Given the description of an element on the screen output the (x, y) to click on. 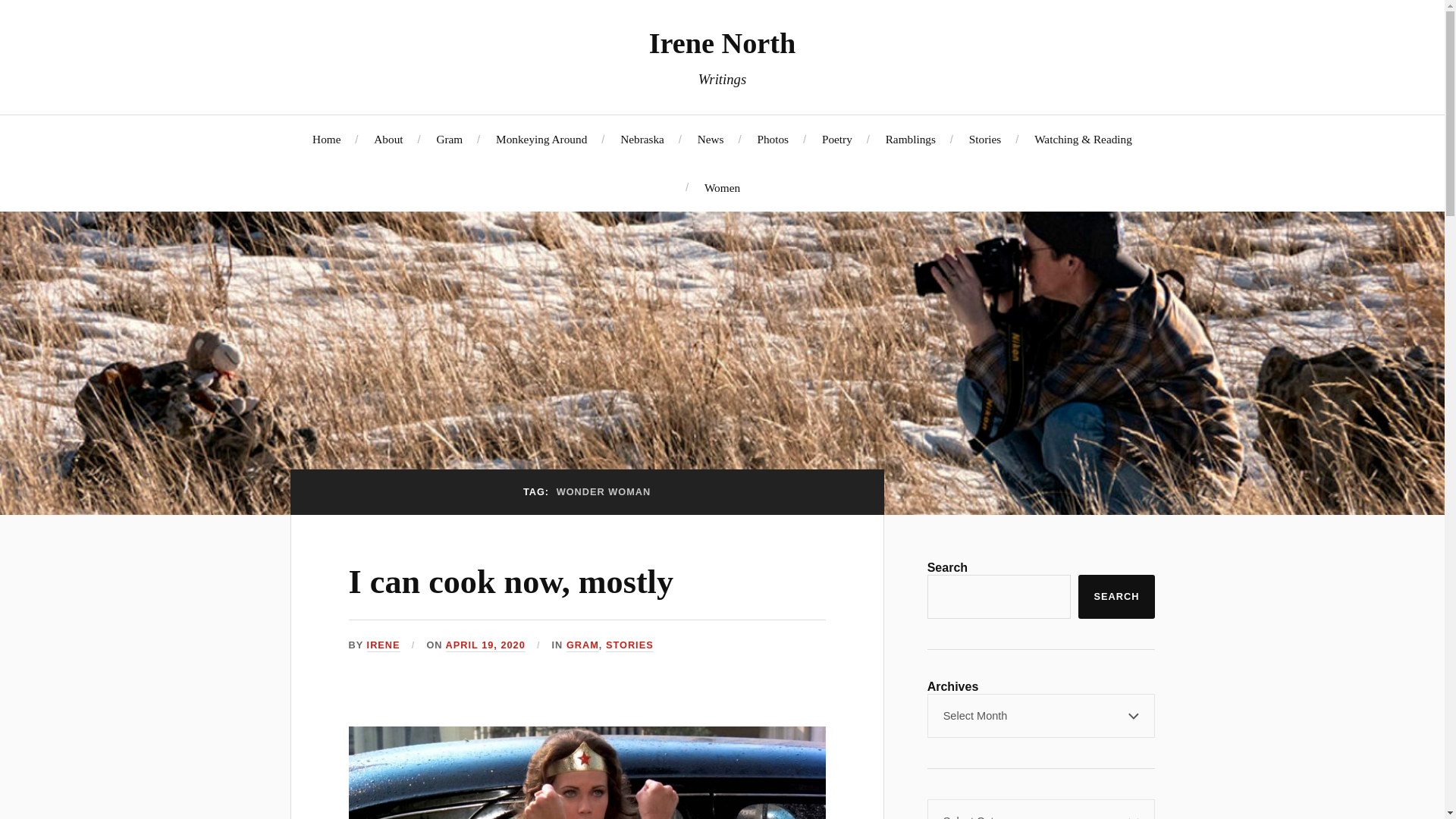
Irene North (722, 42)
Monkeying Around (541, 138)
Ramblings (910, 138)
Nebraska (641, 138)
APRIL 19, 2020 (485, 644)
IRENE (383, 644)
Posts by Irene (383, 644)
STORIES (629, 644)
I can cook now, mostly (510, 581)
GRAM (582, 644)
